Given the description of an element on the screen output the (x, y) to click on. 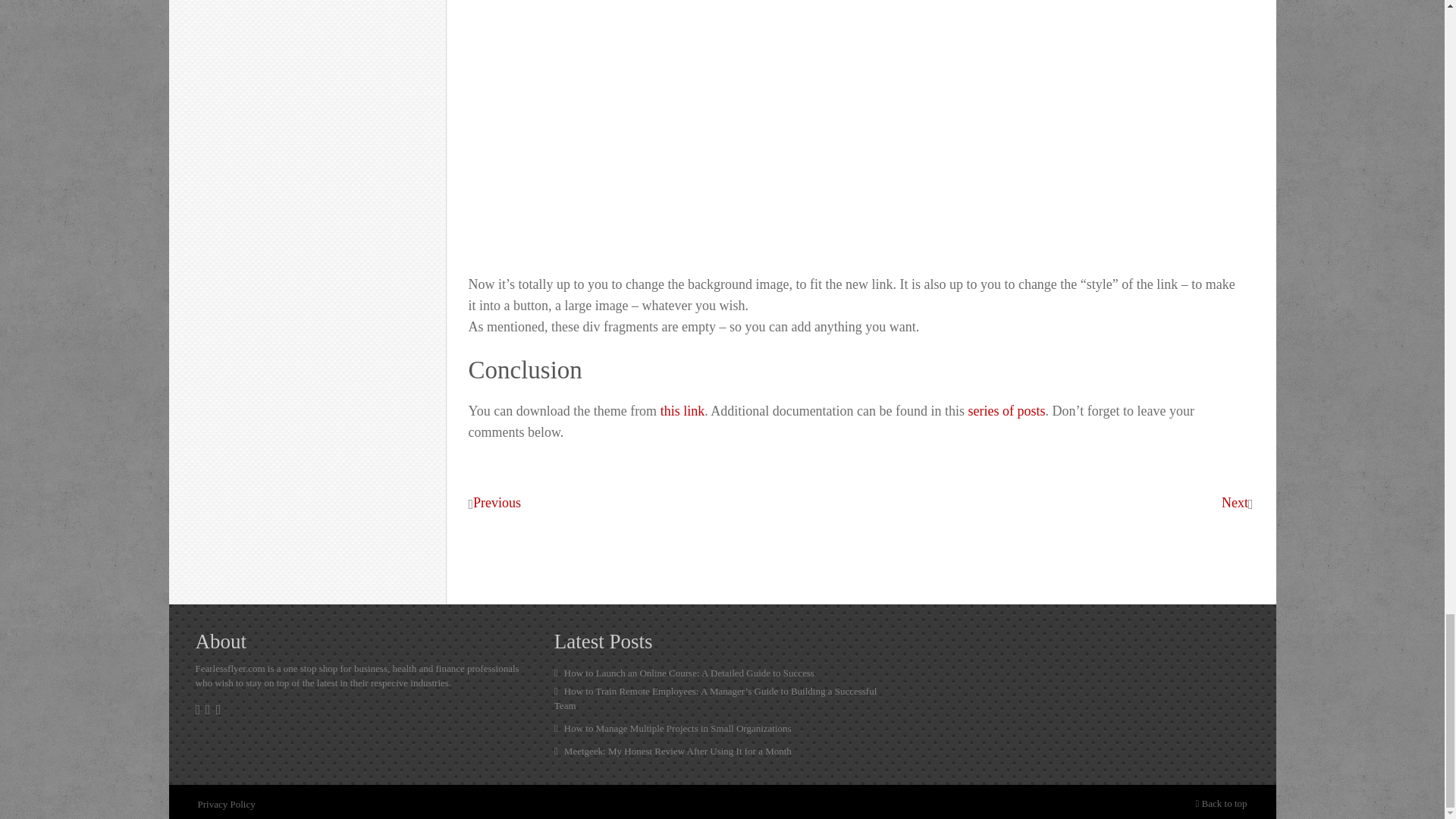
Previous (497, 502)
Next (1234, 502)
series of posts (1006, 411)
Back to top (1221, 801)
this link (682, 411)
How to Launch an Online Course: A Detailed Guide to Success (721, 672)
Privacy Policy (225, 803)
The link shows in the Slideshow (686, 117)
Meetgeek: My Honest Review After Using It for a Month (721, 750)
How to Manage Multiple Projects in Small Organizations (721, 728)
